Given the description of an element on the screen output the (x, y) to click on. 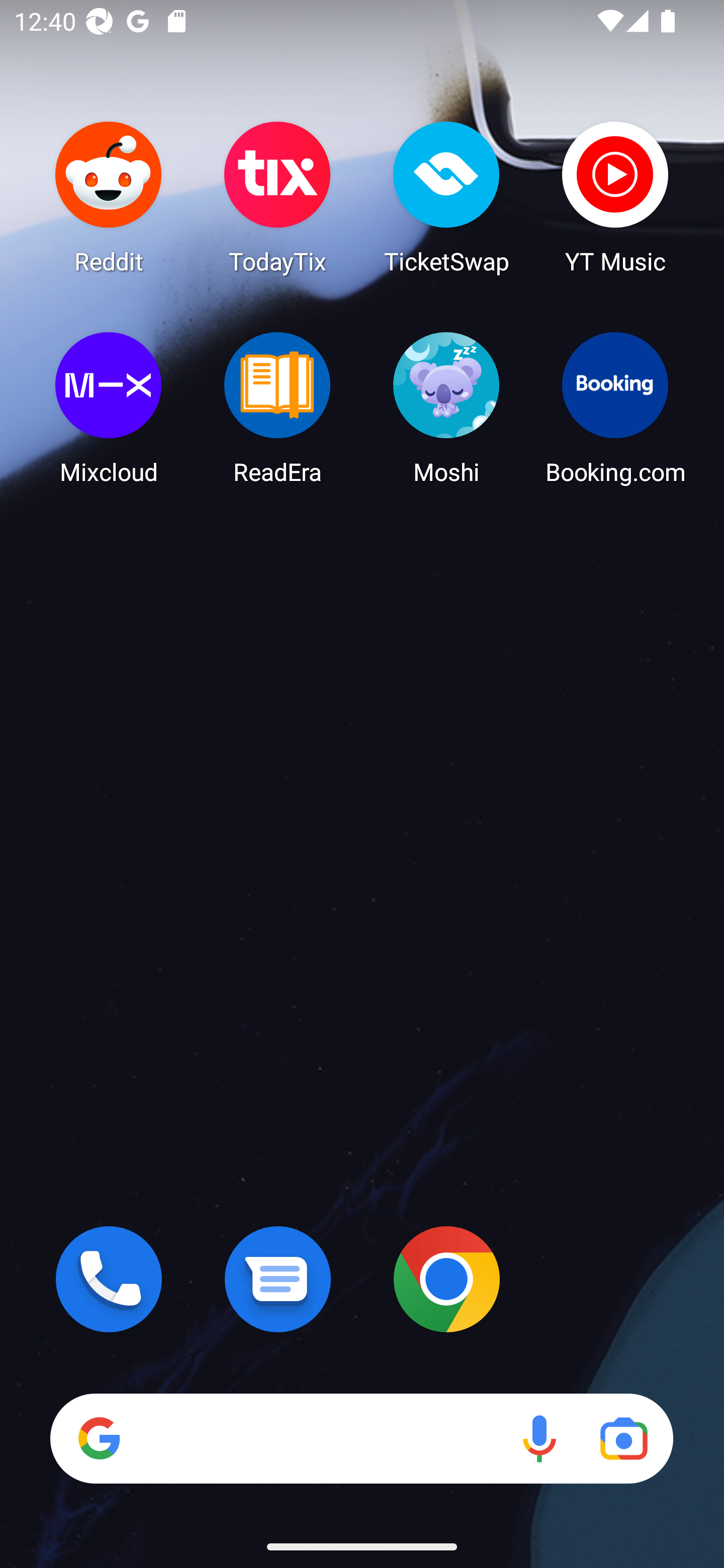
Reddit (108, 196)
TodayTix (277, 196)
TicketSwap (445, 196)
YT Music (615, 196)
Mixcloud (108, 407)
ReadEra (277, 407)
Moshi (445, 407)
Booking.com (615, 407)
Phone (108, 1279)
Messages (277, 1279)
Chrome (446, 1279)
Search Voice search Google Lens (361, 1438)
Voice search (539, 1438)
Google Lens (623, 1438)
